Given the description of an element on the screen output the (x, y) to click on. 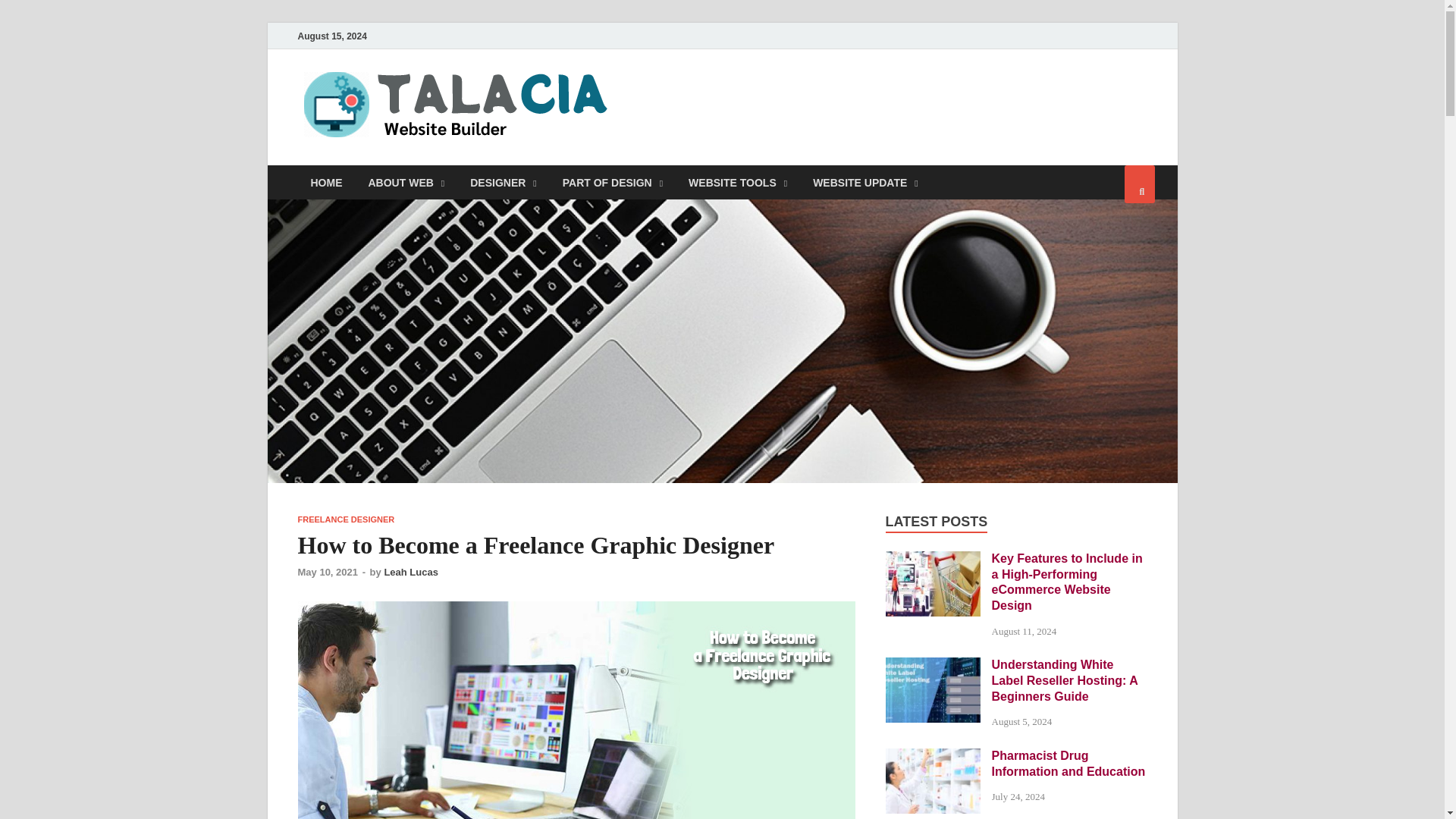
WEBSITE UPDATE (865, 182)
ABOUT WEB (406, 182)
PART OF DESIGN (612, 182)
HOME (326, 182)
DESIGNER (503, 182)
Leah Lucas (411, 572)
May 10, 2021 (327, 572)
talacia.com (694, 100)
